Given the description of an element on the screen output the (x, y) to click on. 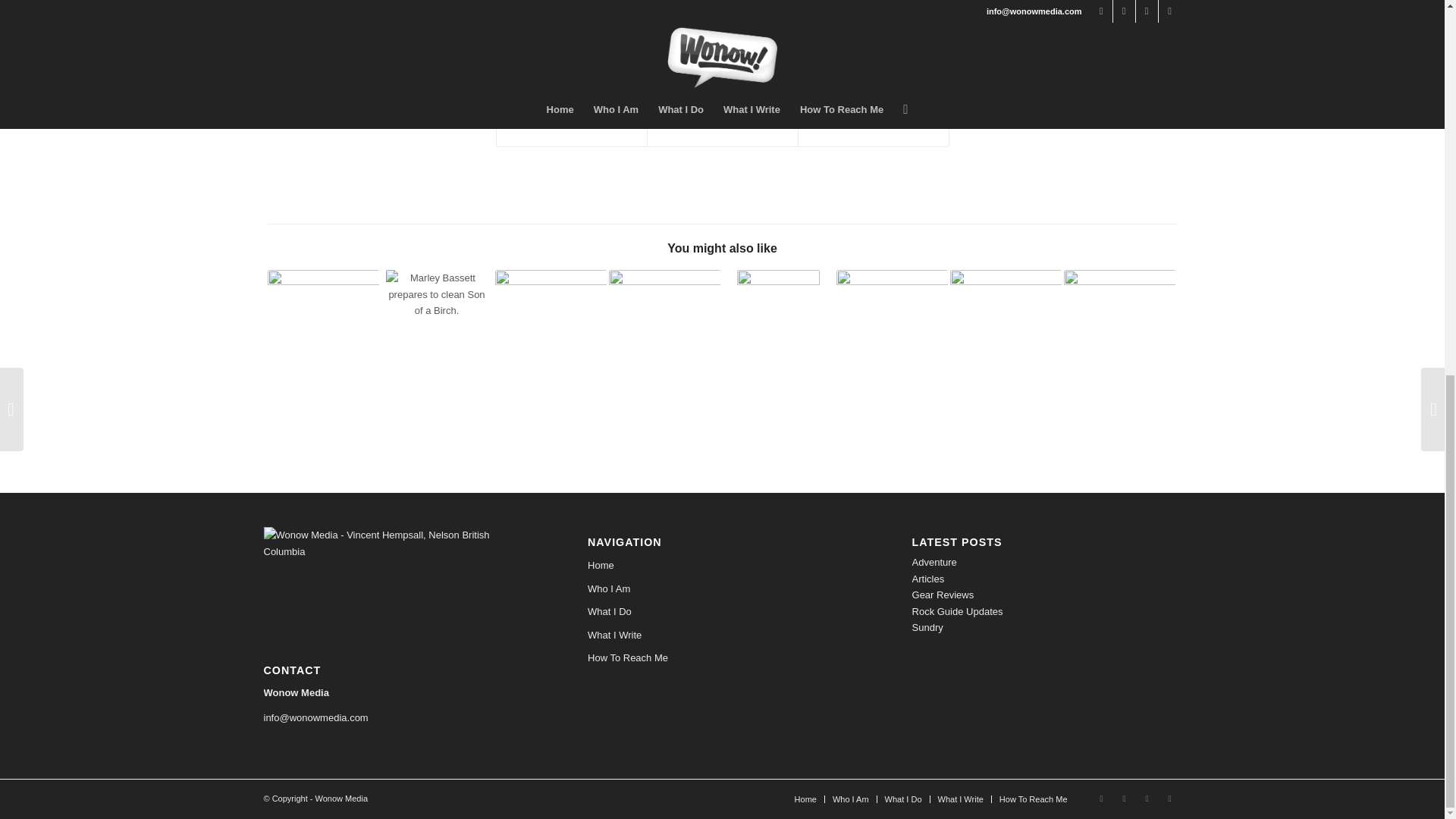
rock climbing (685, 41)
Backcountry Skiing Canada (742, 12)
review (635, 41)
gear review (589, 41)
five ten (540, 41)
rock climbing shoes (765, 41)
wonow media (846, 41)
